Given the description of an element on the screen output the (x, y) to click on. 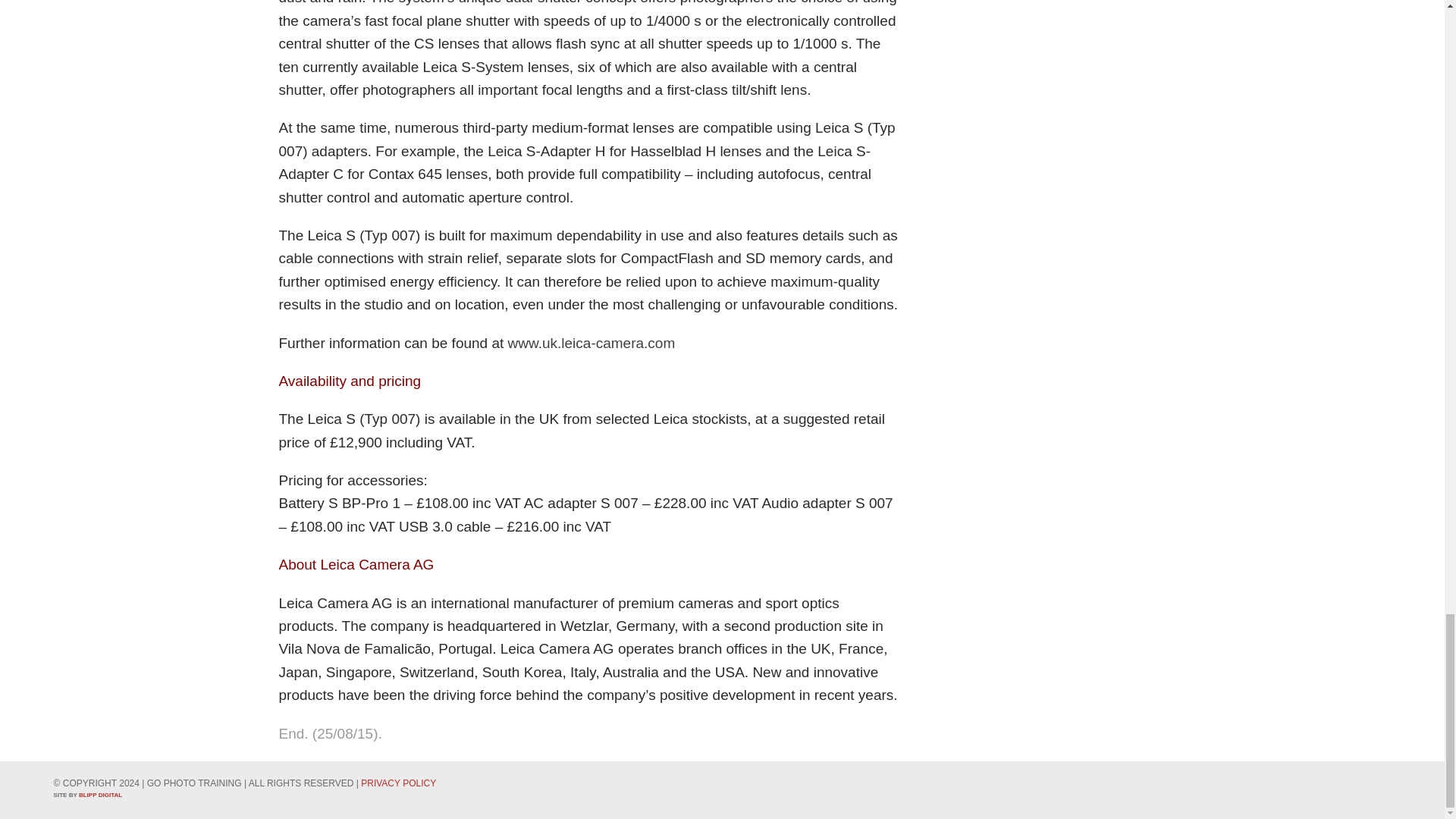
Page 2 (590, 50)
www.uk.leica-camera.com (591, 342)
PRIVACY POLICY (398, 783)
BLIPP DIGITAL (100, 794)
Page 4 (590, 733)
